Given the description of an element on the screen output the (x, y) to click on. 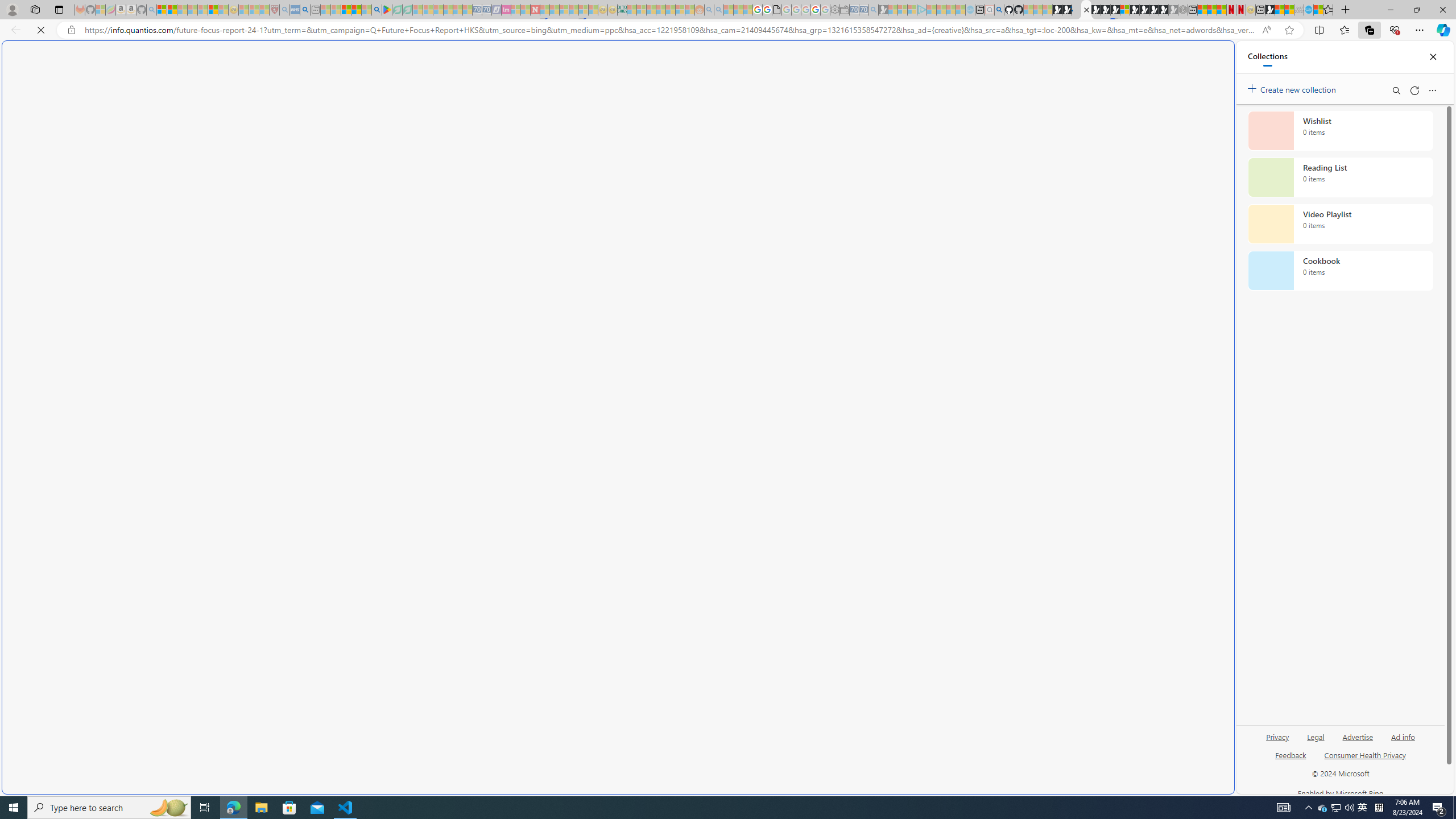
Close split screen (1208, 57)
